Given the description of an element on the screen output the (x, y) to click on. 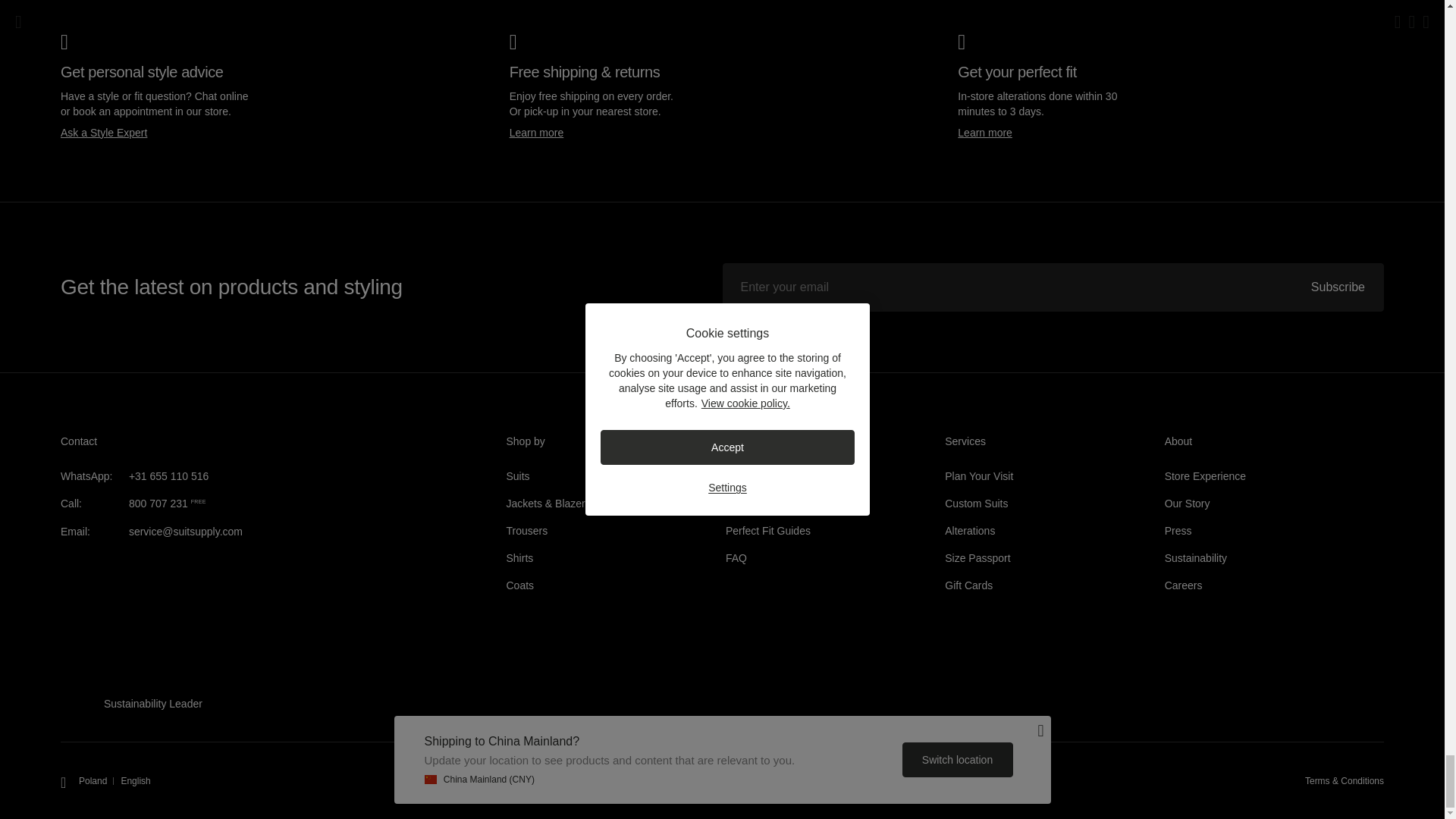
Perfect Fit Guides (767, 530)
Trousers (527, 530)
FAQ (735, 558)
Alterations (969, 530)
Shirts (520, 558)
800 707 231 (158, 503)
Get your perfect fit (984, 132)
Custom Made (975, 503)
Coats (520, 585)
WhatsApp (169, 476)
